Given the description of an element on the screen output the (x, y) to click on. 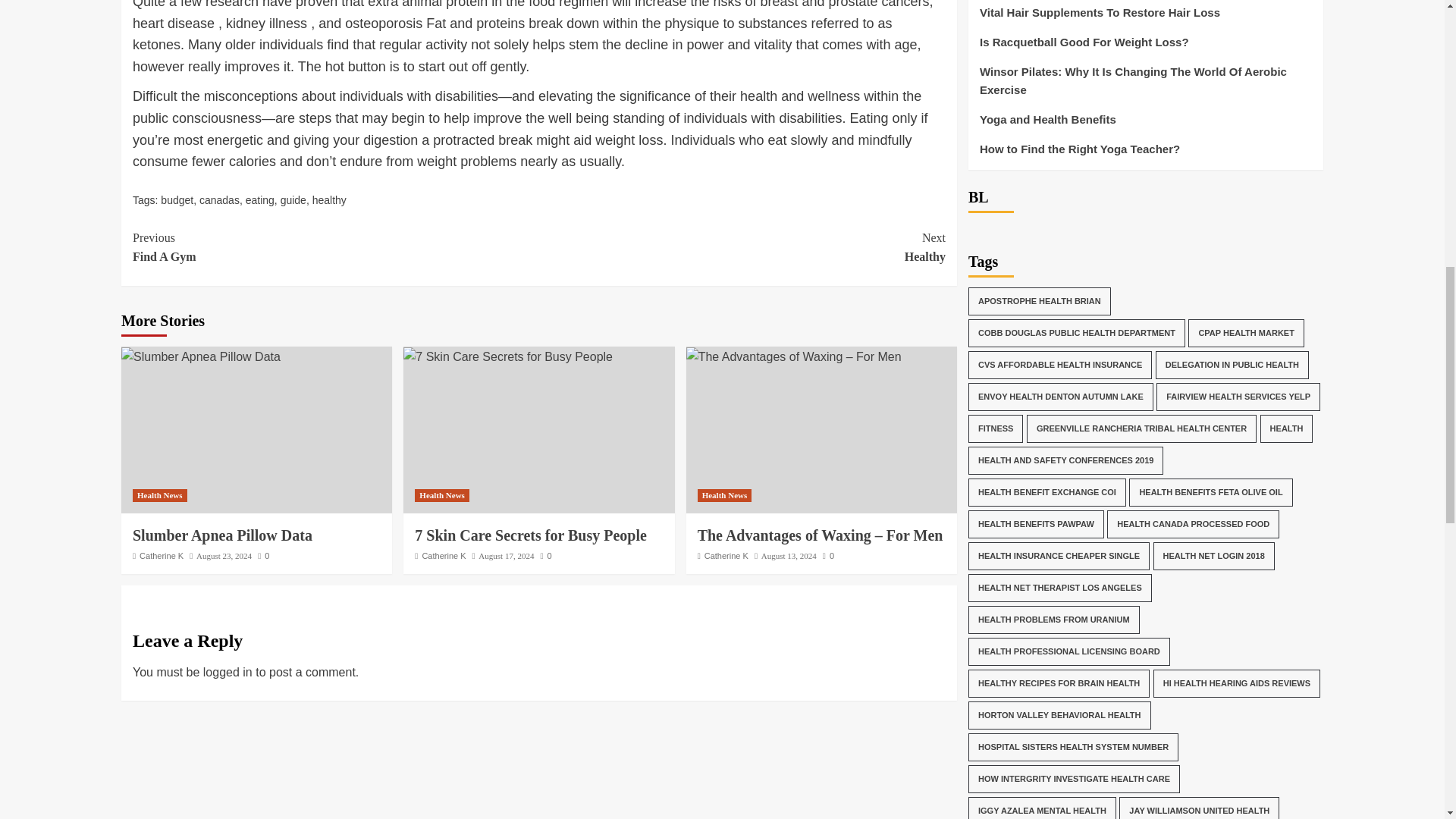
August 23, 2024 (223, 555)
eating (260, 200)
Catherine K (443, 555)
August 17, 2024 (506, 555)
Catherine K (161, 555)
Slumber Apnea Pillow Data (200, 356)
7 Skin Care Secrets for Busy People (741, 247)
7 Skin Care Secrets for Busy People (530, 535)
Health News (507, 356)
